Given the description of an element on the screen output the (x, y) to click on. 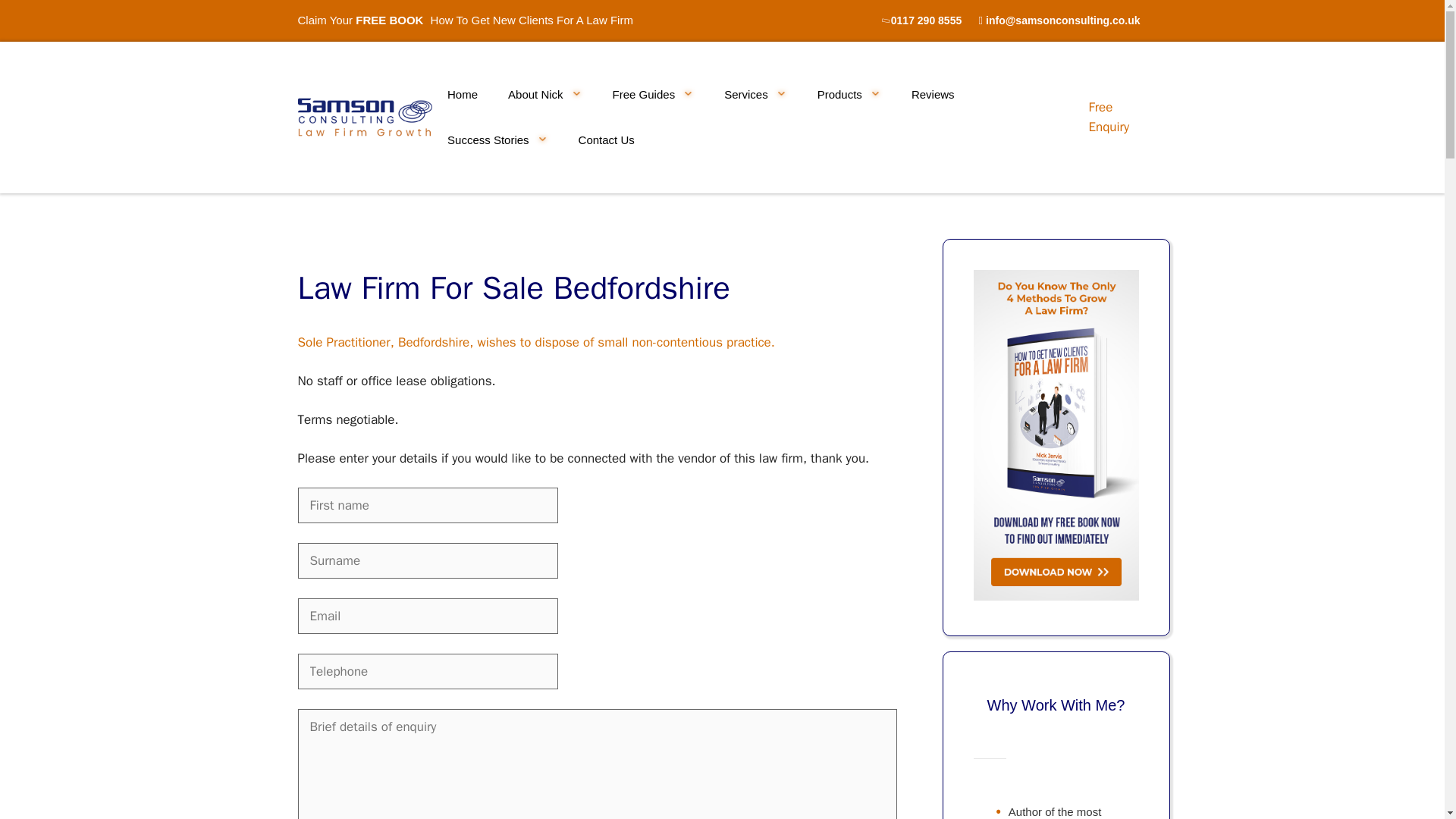
0117 290 8555 (925, 20)
Home (462, 94)
About Nick (544, 94)
FREE BOOK (389, 19)
Free Guides (653, 94)
Services (755, 94)
